Given the description of an element on the screen output the (x, y) to click on. 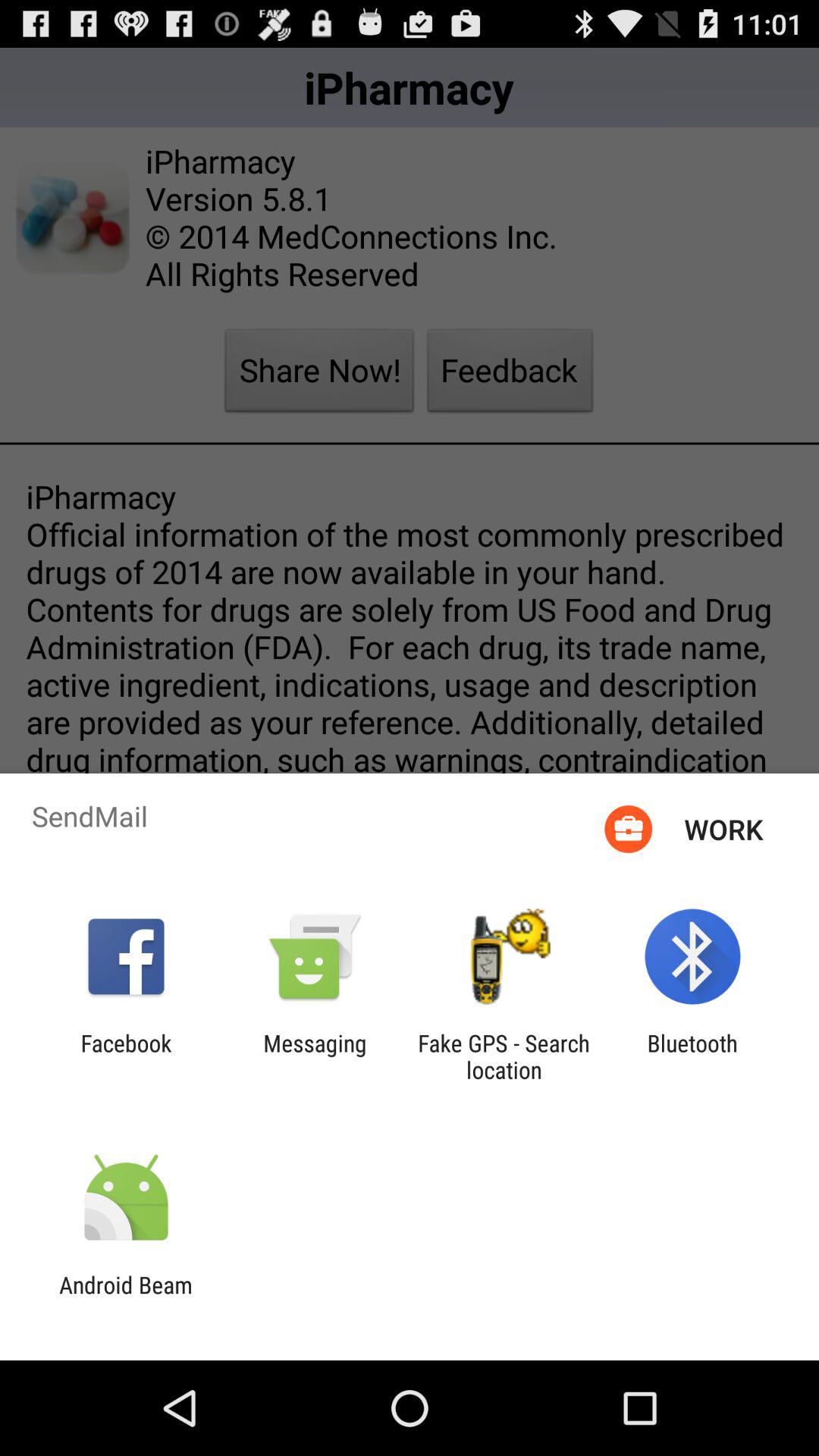
select item next to facebook app (314, 1056)
